Given the description of an element on the screen output the (x, y) to click on. 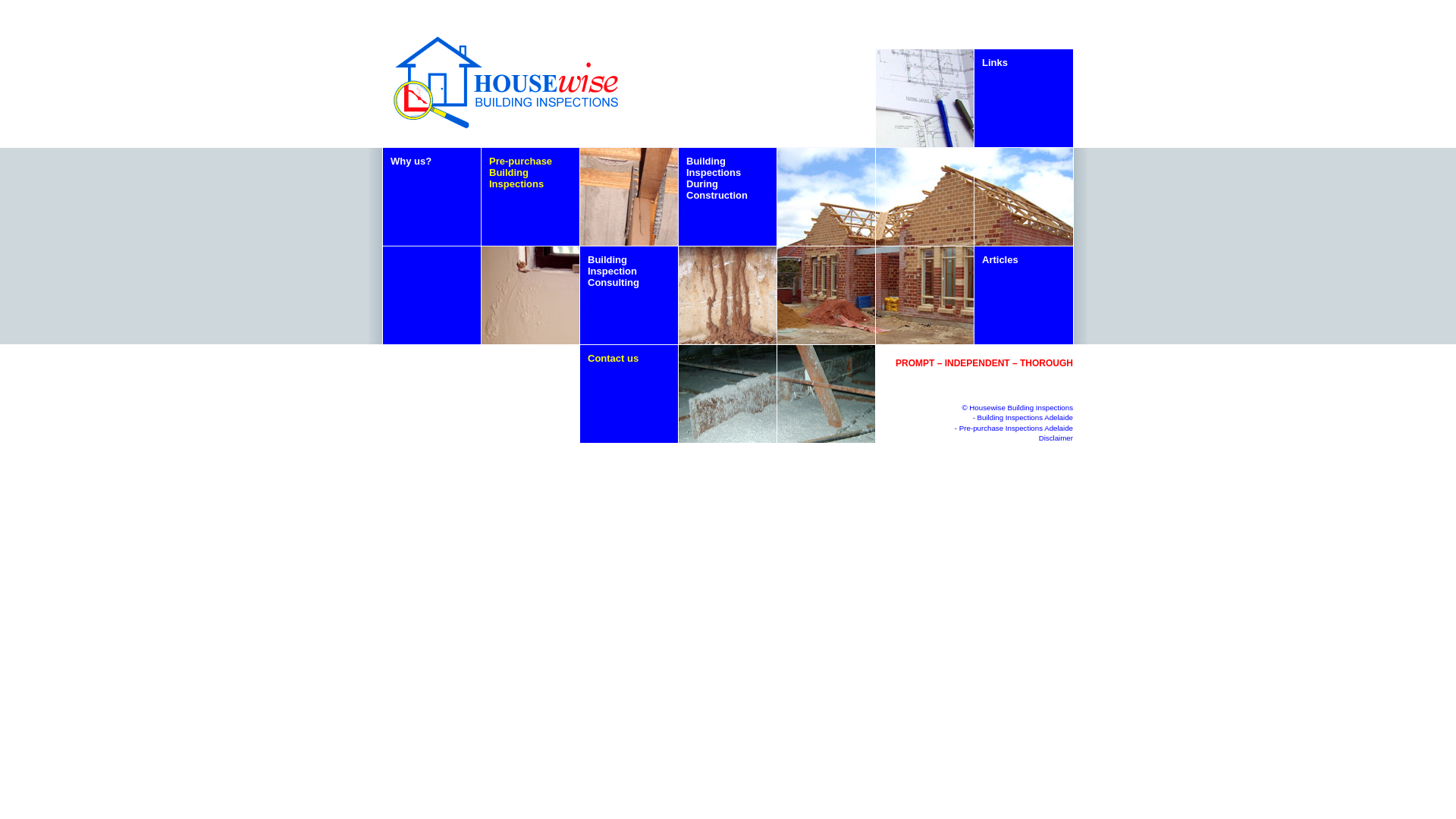
Why us? Element type: text (431, 196)
Housewise Building Inspections Element type: text (1021, 407)
Links Element type: text (1023, 98)
Contact us Element type: text (628, 393)
Pre-purchase Building Inspections Element type: text (530, 196)
Disclaimer Element type: text (1055, 437)
Building Inspections During Construction Element type: text (727, 196)
Pre-purchase Inspections Adelaide Element type: text (1016, 427)
Articles Element type: text (1023, 295)
Building Inspection Consulting Element type: text (628, 295)
Building Inspections Adelaide Element type: text (1025, 417)
